Given the description of an element on the screen output the (x, y) to click on. 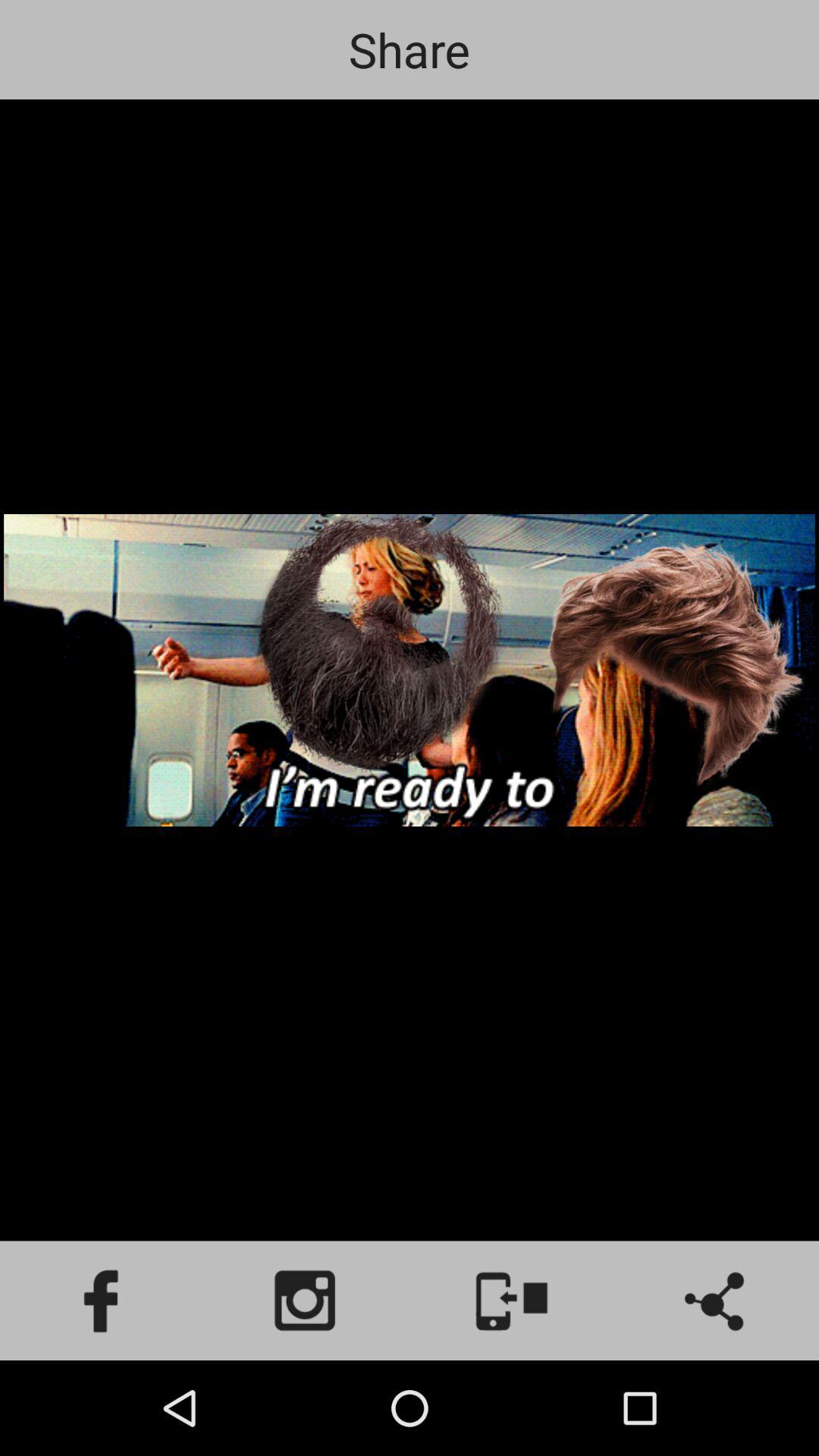
launch icon at the bottom right corner (716, 1300)
